Given the description of an element on the screen output the (x, y) to click on. 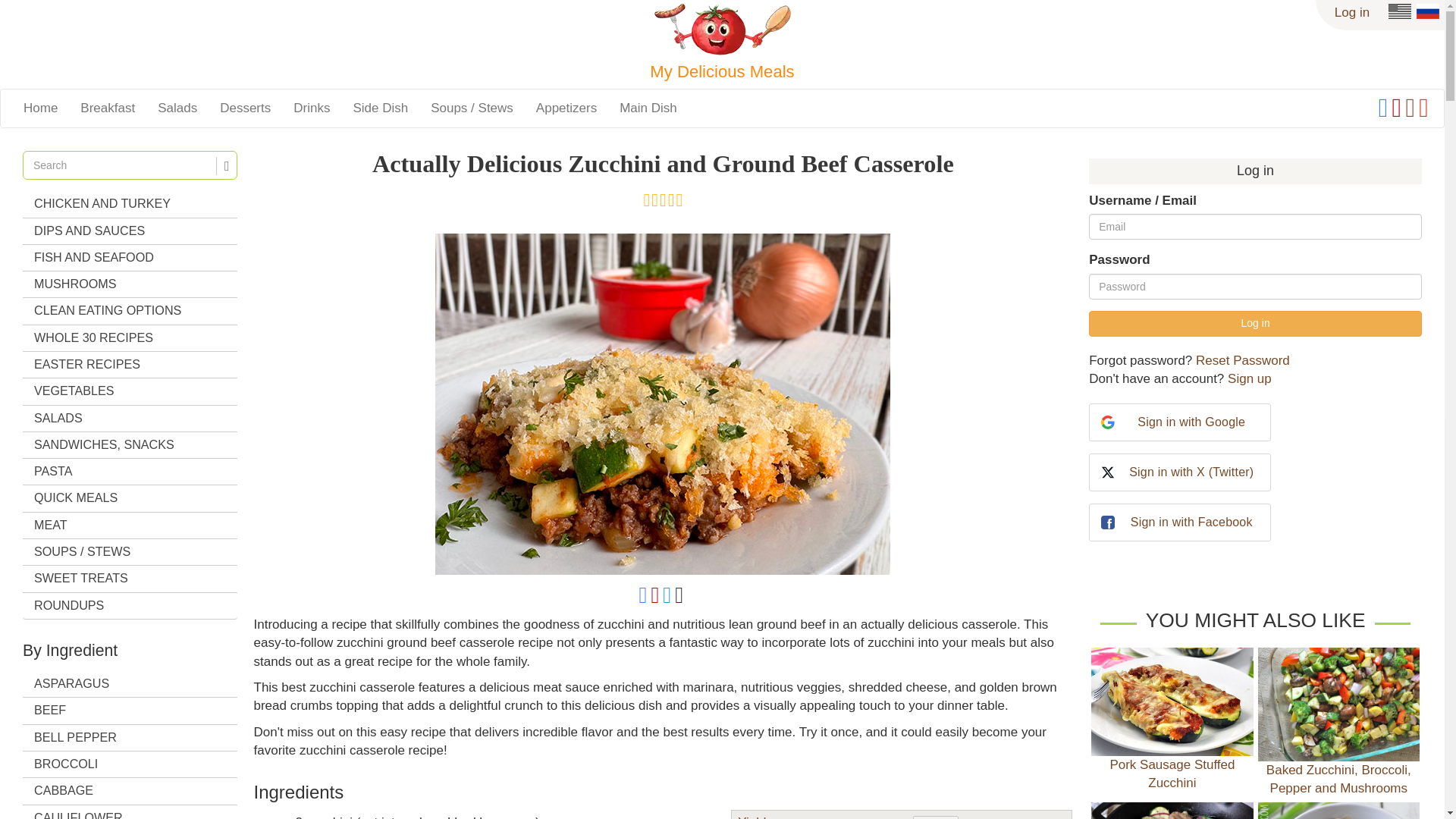
Easy Chicken and Zucchini Bake (1171, 810)
Baked Zucchini, Broccoli, Pepper and Mushrooms (1338, 703)
Pork Sausage Stuffed Zucchini (1171, 701)
Chicken, Zucchini and Mushroom Stir Fry (1338, 810)
6 (935, 817)
